Given the description of an element on the screen output the (x, y) to click on. 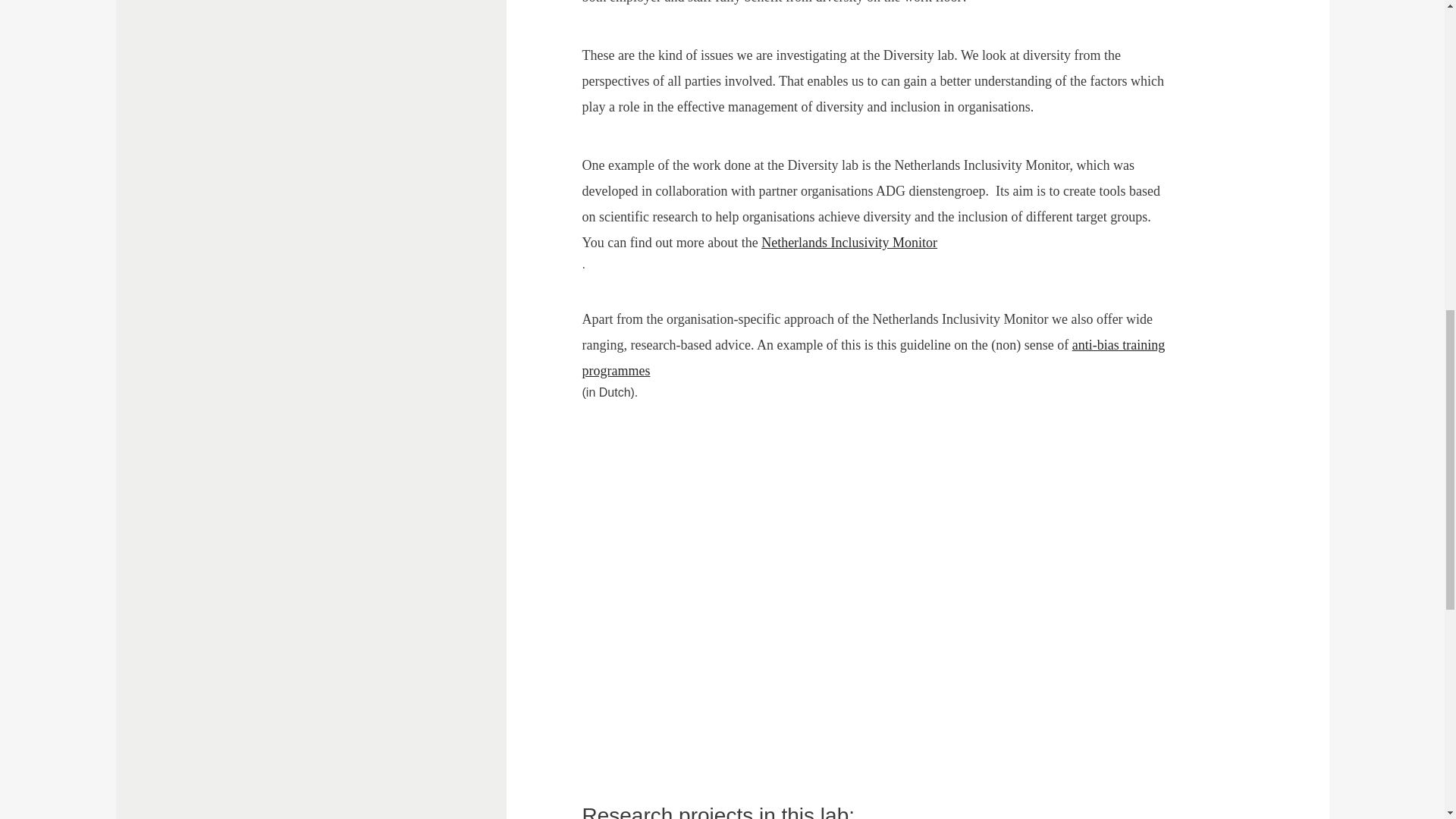
anti-bias training programmes (874, 357)
Netherlands Inclusivity Monitor (858, 242)
